Given the description of an element on the screen output the (x, y) to click on. 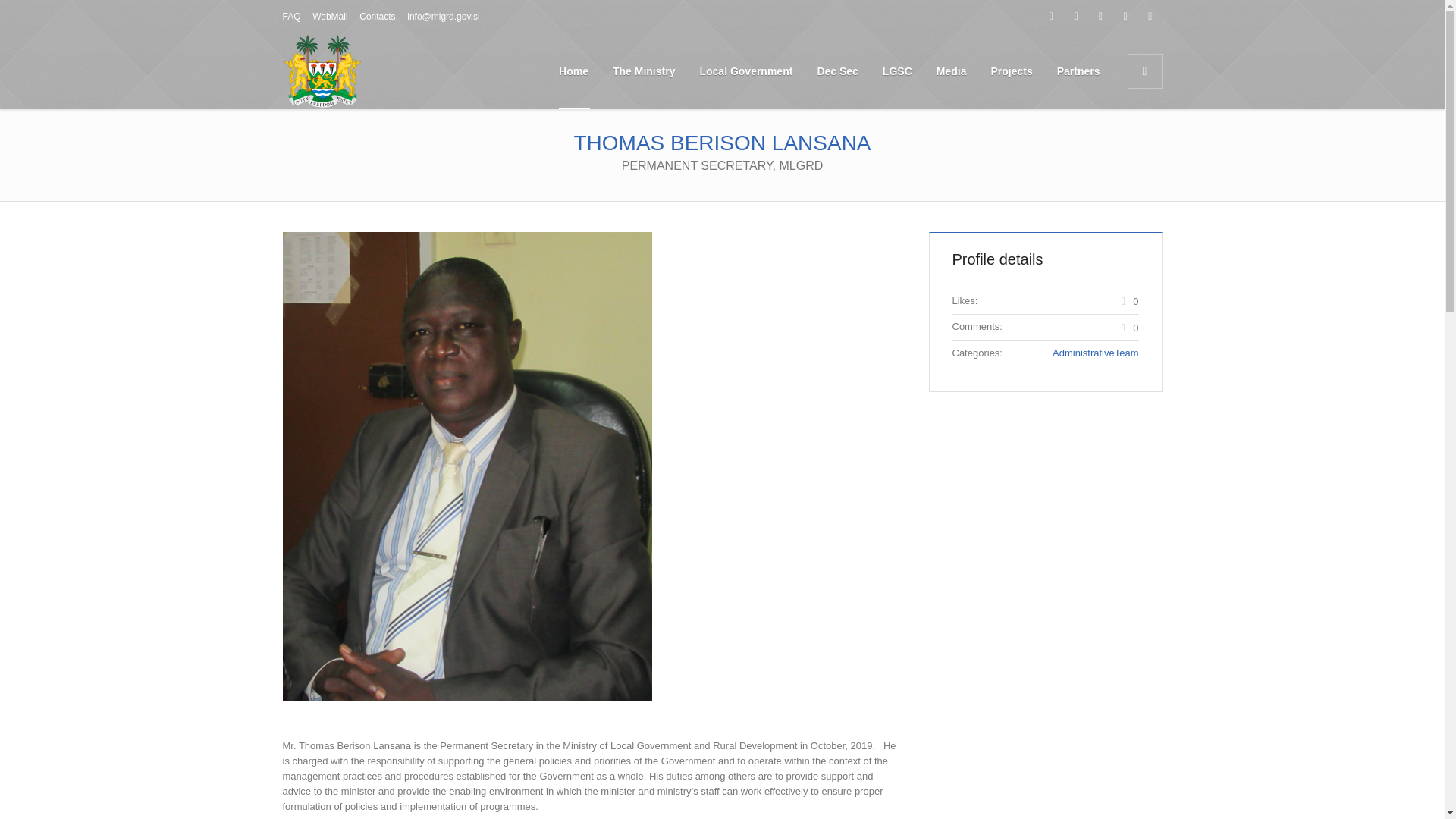
Contacts (376, 16)
FAQ (290, 16)
Instagram (1100, 16)
0 (1128, 326)
LGSC (897, 70)
Dec Sec (837, 70)
Comment on THOMAS BERISON LANSANA (1128, 326)
Twitter (1125, 16)
AdministrativeTeam (1095, 352)
YouTube (1149, 16)
Facebook (1050, 16)
Local Government (746, 70)
Media (951, 70)
The Ministry (643, 70)
Home (573, 70)
